Given the description of an element on the screen output the (x, y) to click on. 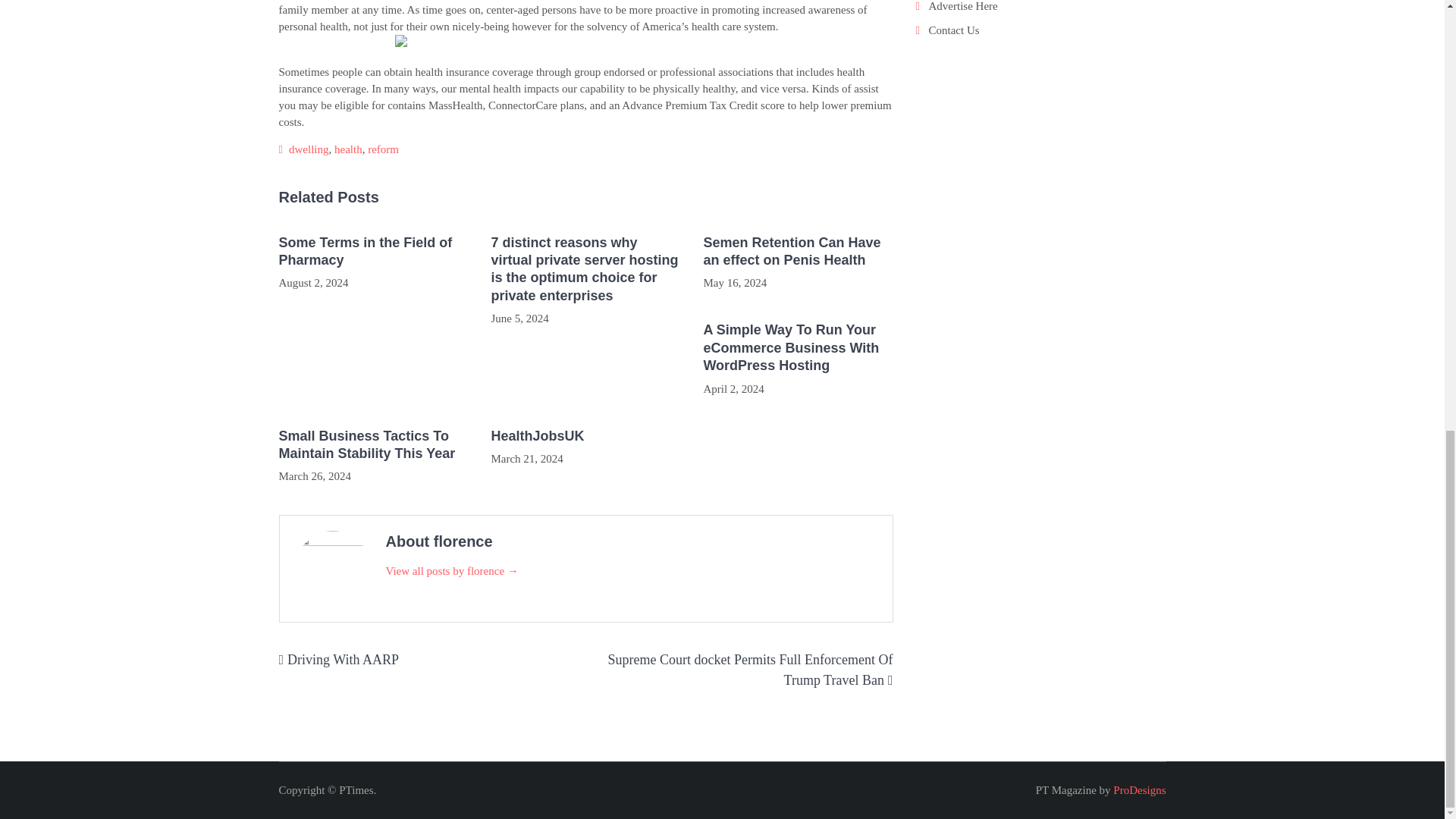
Semen Retention Can Have an effect on Penis Health (797, 252)
Some Terms in the Field of Pharmacy (373, 252)
Small Business Tactics To Maintain Stability This Year (373, 445)
health (348, 149)
dwelling (308, 149)
reform (383, 149)
